Given the description of an element on the screen output the (x, y) to click on. 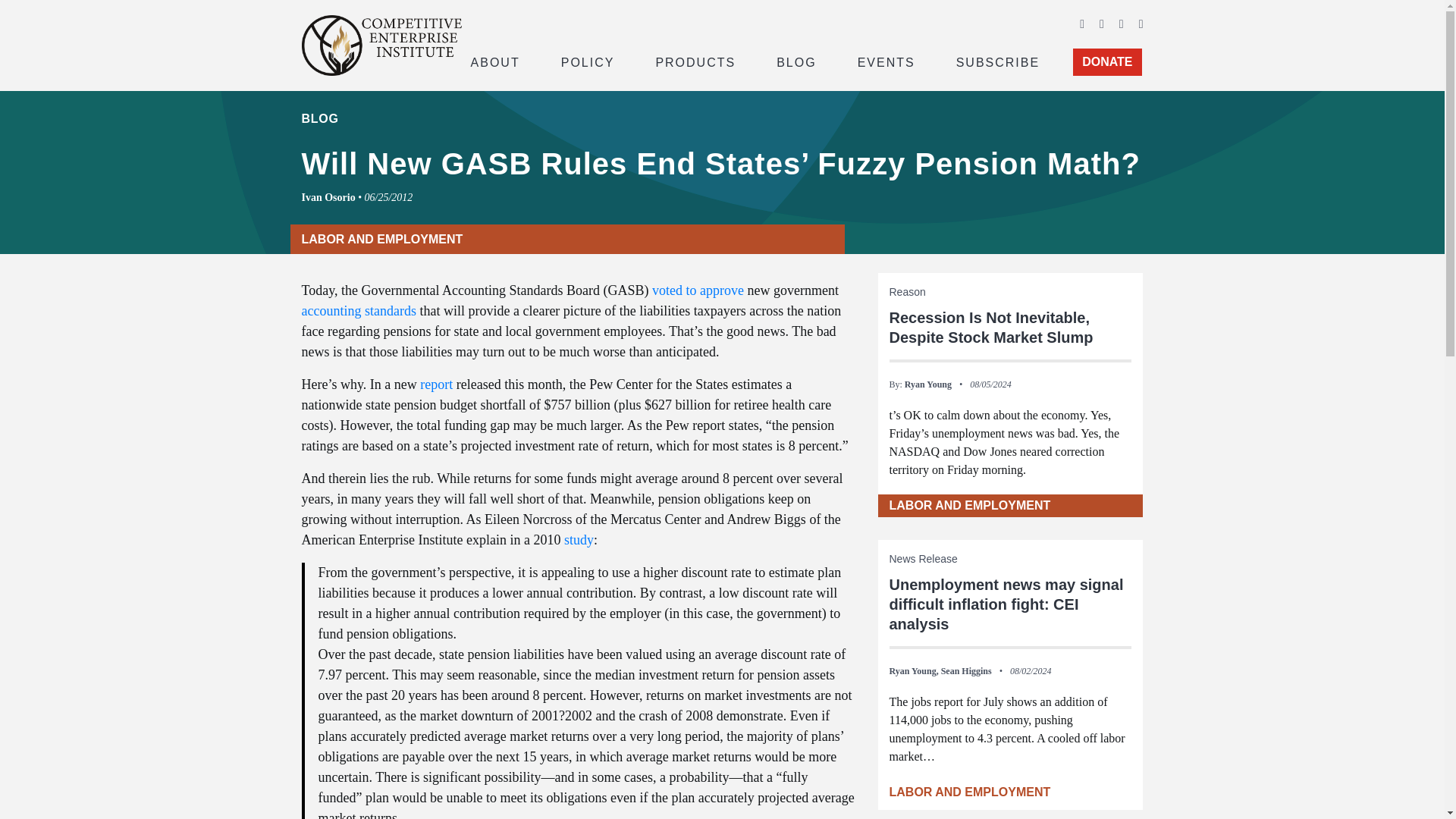
EVENTS (886, 61)
SUBSCRIBE (997, 61)
POLICY (588, 61)
ABOUT (495, 61)
DONATE (1107, 62)
BLOG (796, 61)
PRODUCTS (694, 61)
